Given the description of an element on the screen output the (x, y) to click on. 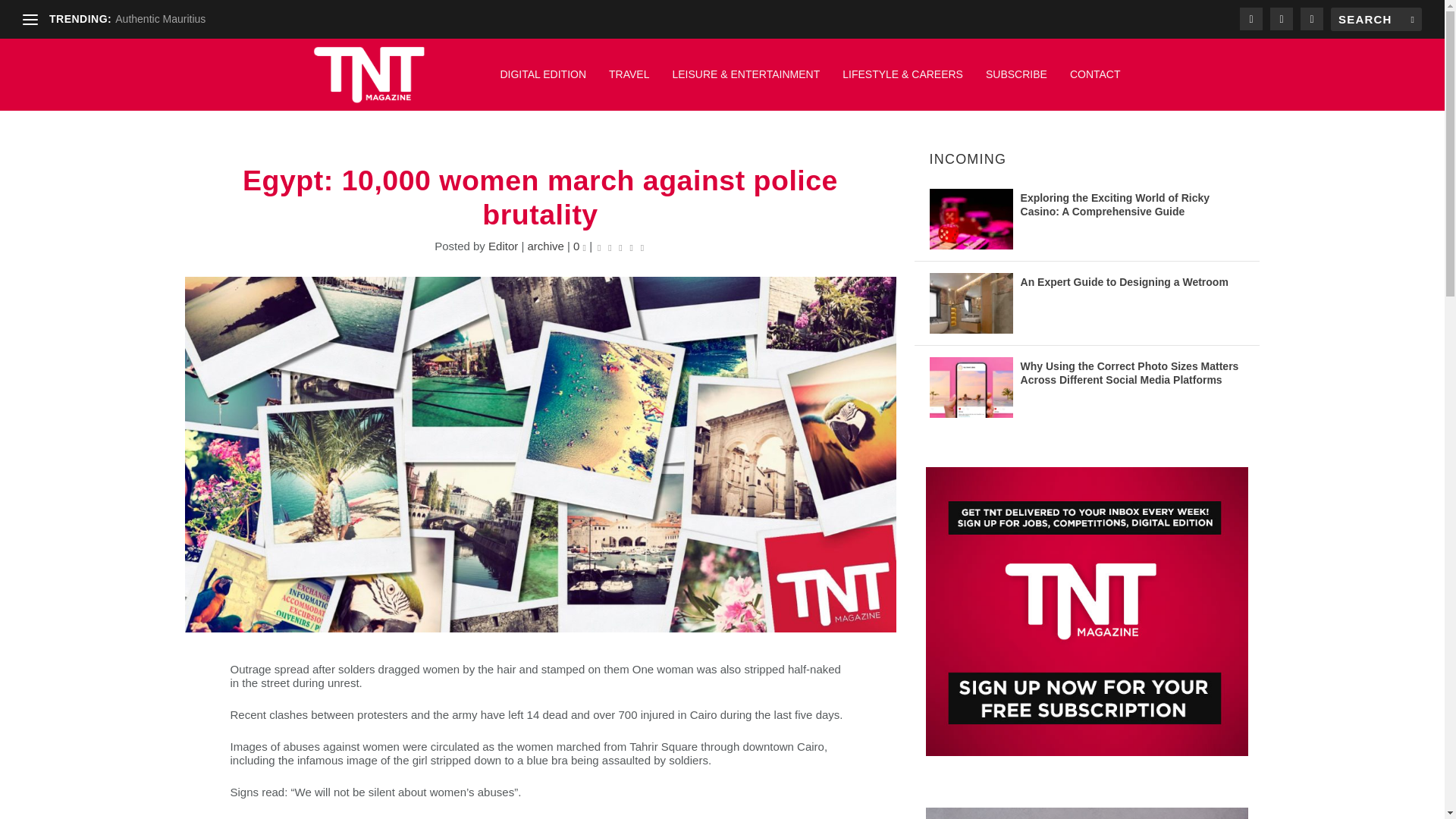
0 (579, 245)
Authentic Mauritius (160, 19)
Editor (502, 245)
Posts by Editor (502, 245)
SUBSCRIBE (1015, 82)
archive (545, 245)
DIGITAL EDITION (542, 82)
Rating: 0.00 (620, 246)
Search for: (1376, 19)
